Given the description of an element on the screen output the (x, y) to click on. 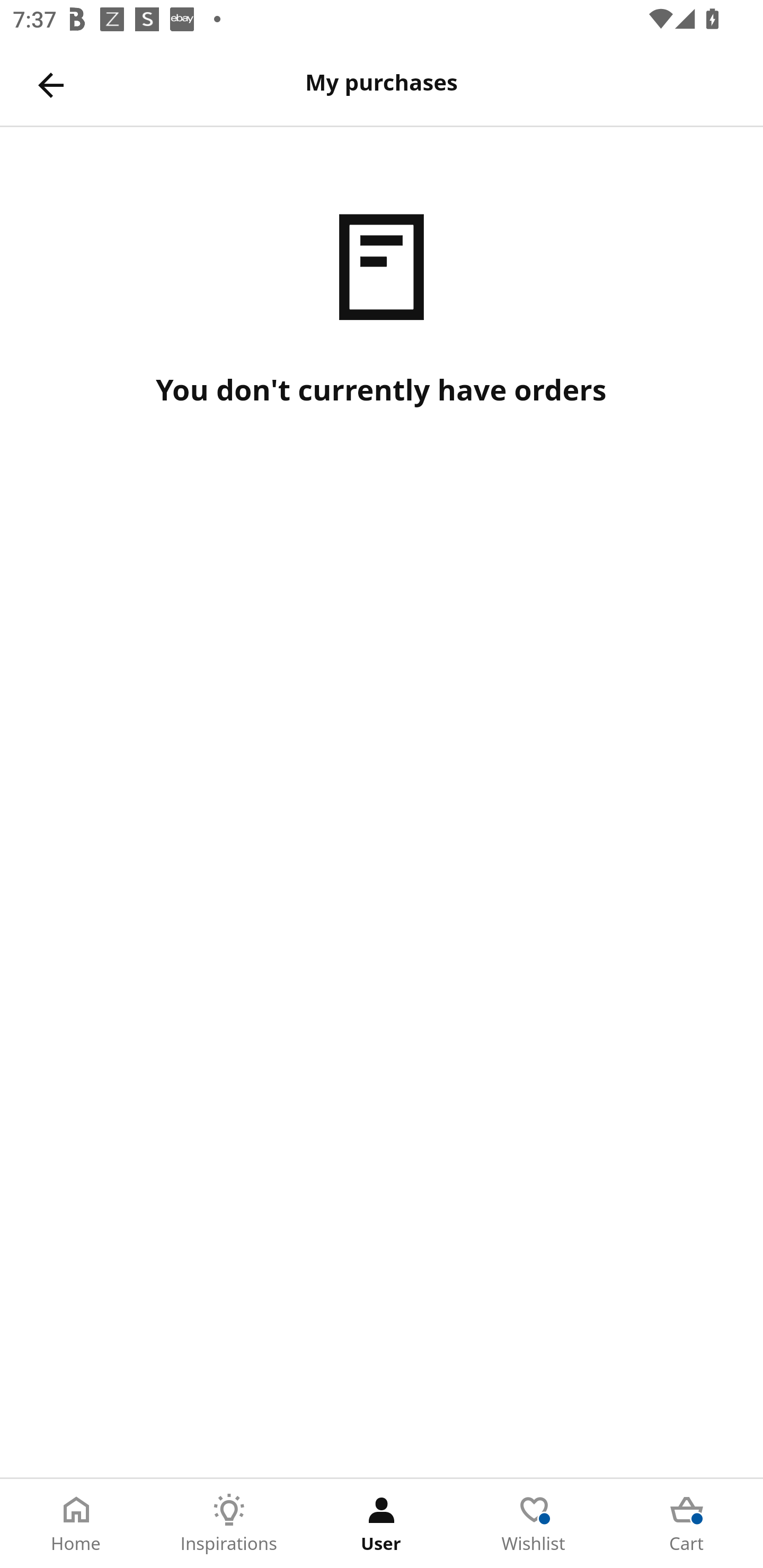
Home
Tab 1 of 5 (76, 1522)
Inspirations
Tab 2 of 5 (228, 1522)
User
Tab 3 of 5 (381, 1522)
Wishlist
Tab 4 of 5 (533, 1522)
Cart
Tab 5 of 5 (686, 1522)
